Given the description of an element on the screen output the (x, y) to click on. 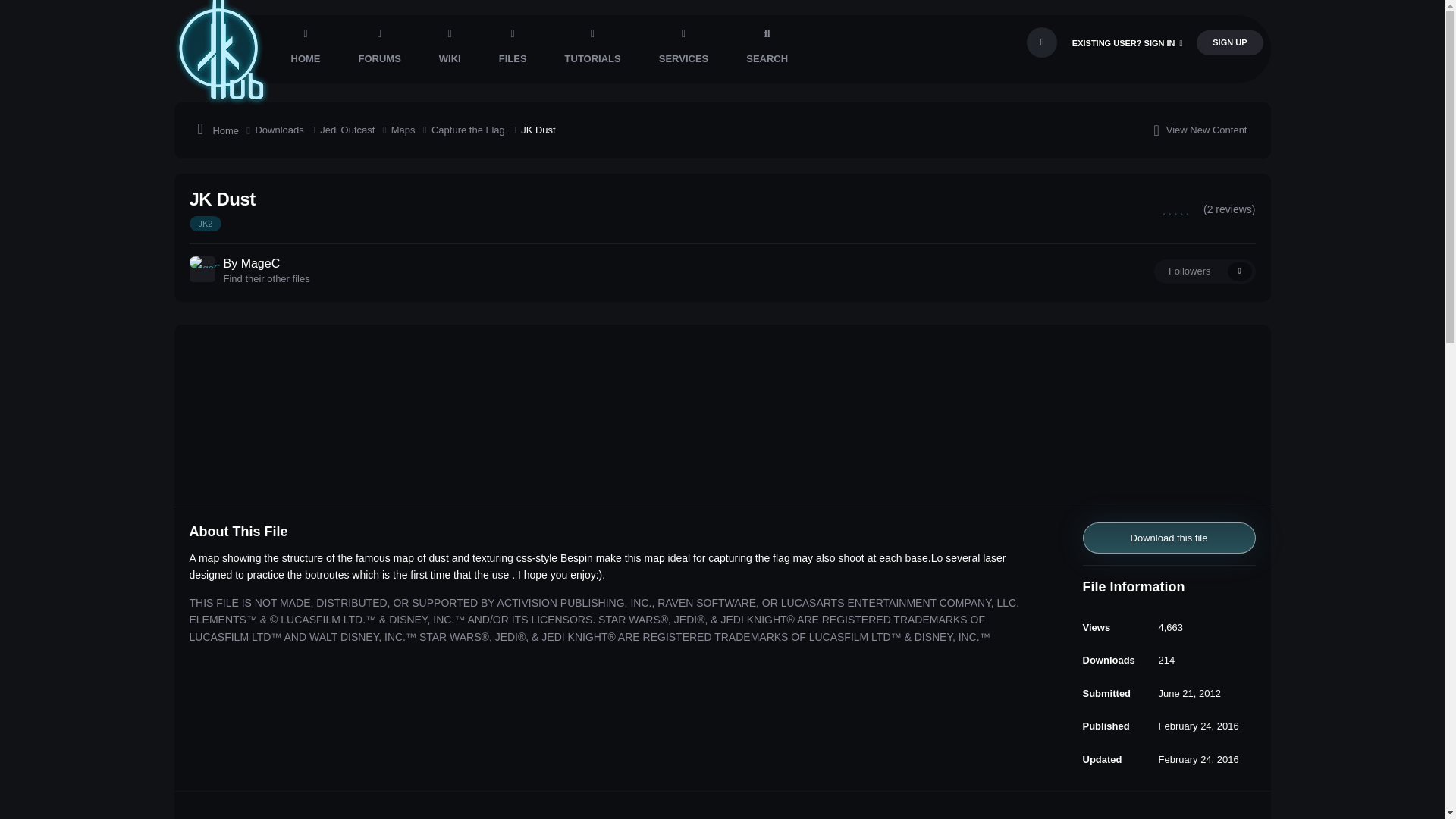
SIGN UP (1229, 42)
Find other content tagged with 'JK2' (205, 223)
Sign in to follow this (1204, 271)
Go to MageC's profile (202, 268)
on (1041, 42)
Go to MageC's profile (261, 263)
EXISTING USER? SIGN IN   (1126, 42)
Home (225, 130)
